Given the description of an element on the screen output the (x, y) to click on. 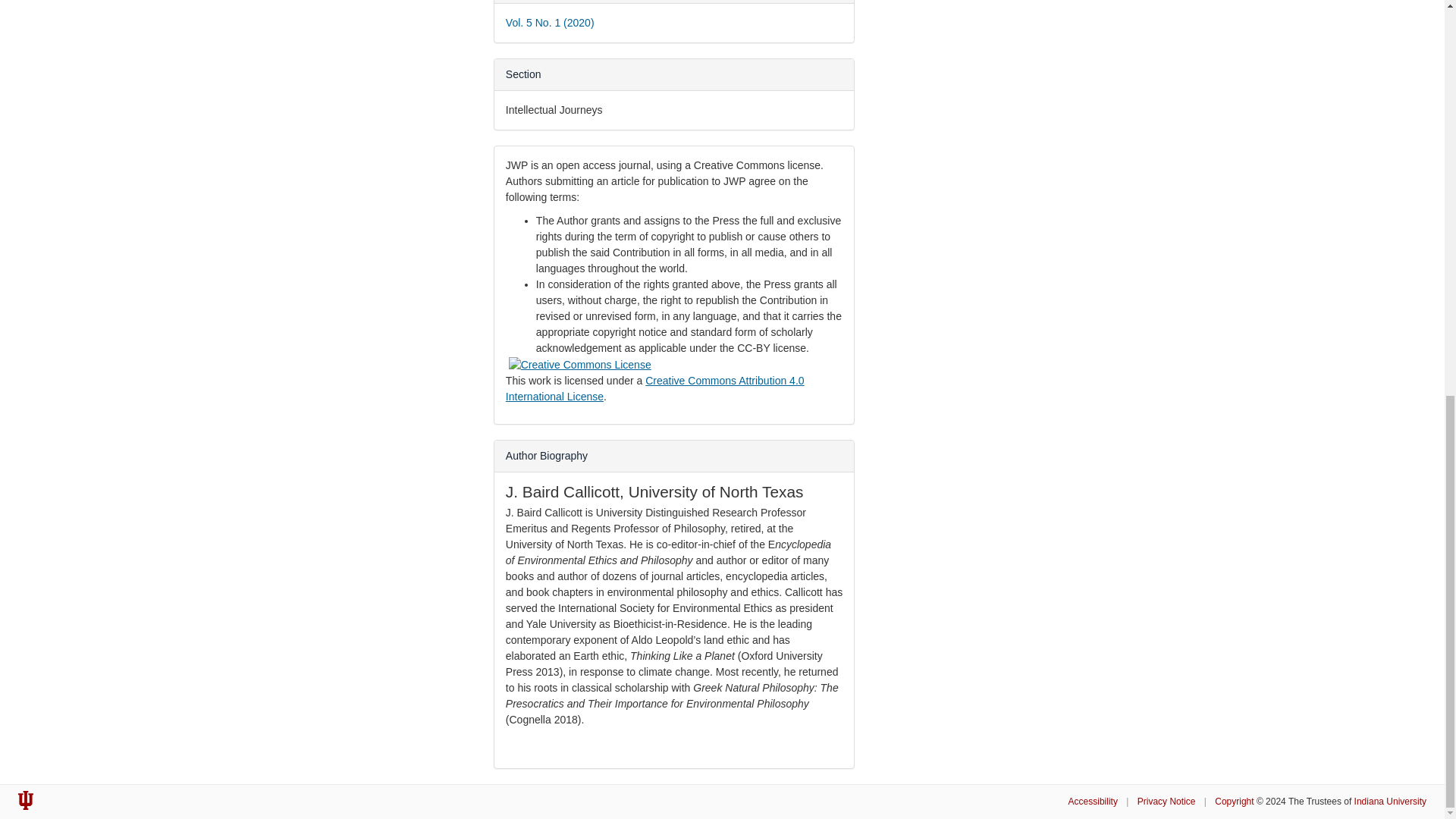
Accessibility (1093, 801)
Creative Commons Attribution 4.0 International License (655, 388)
